Given the description of an element on the screen output the (x, y) to click on. 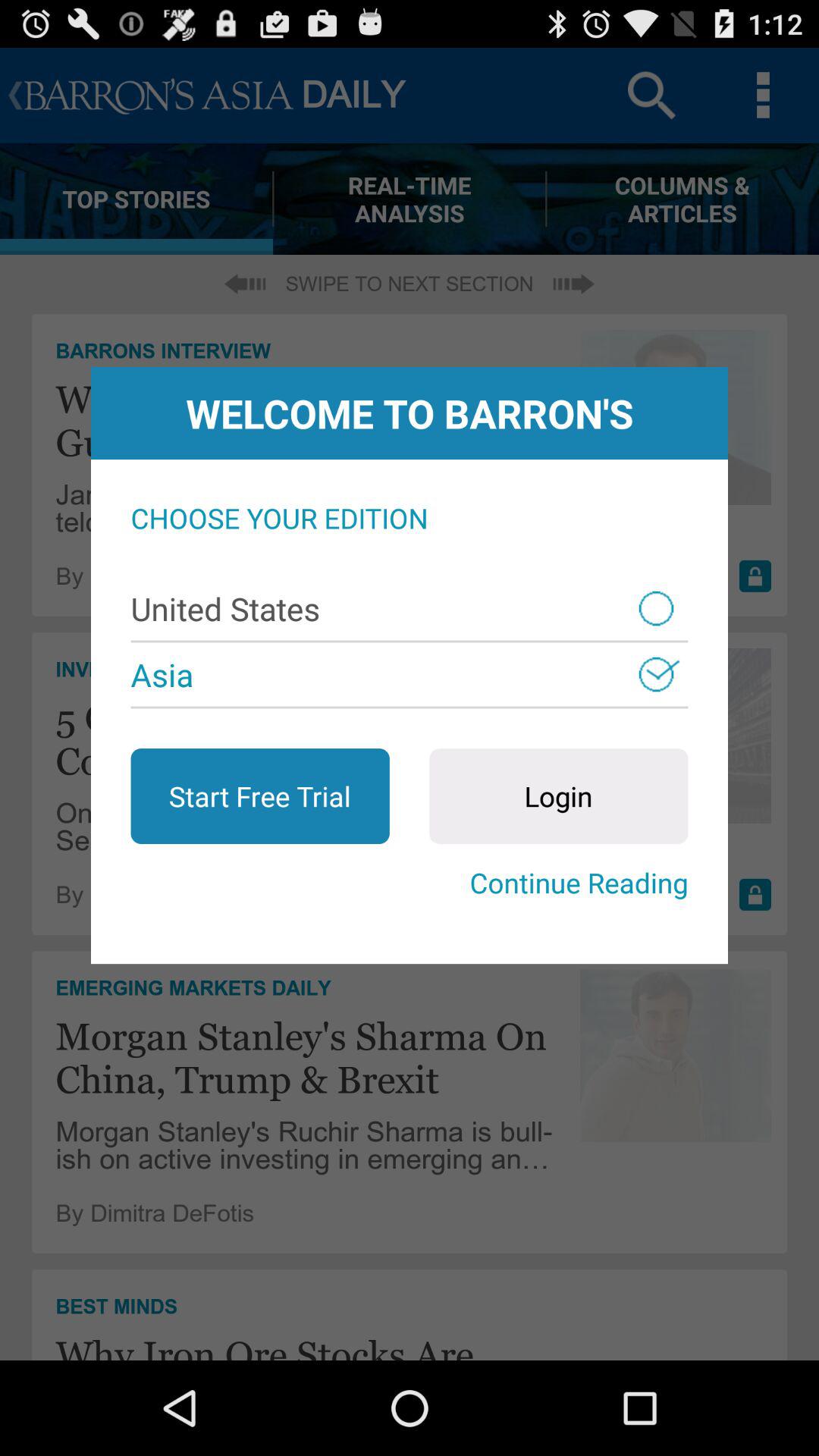
select the login (558, 796)
